Given the description of an element on the screen output the (x, y) to click on. 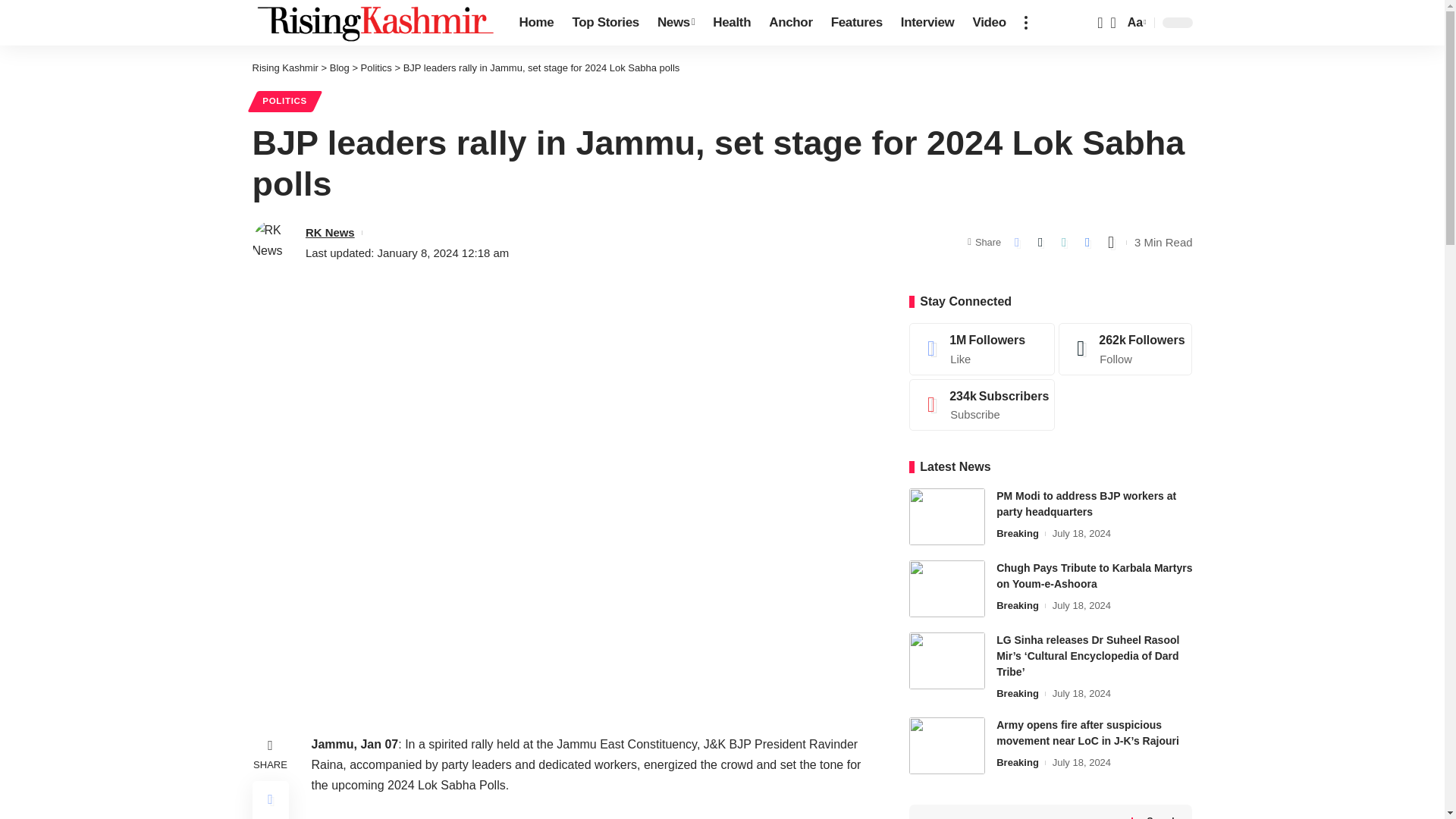
Interview (927, 22)
Features (856, 22)
Video (988, 22)
Go to Blog. (339, 67)
Rising Kashmir (373, 22)
Chugh Pays Tribute to Karbala Martyrs on Youm-e-Ashoora (946, 588)
News (675, 22)
Home (535, 22)
Anchor (790, 22)
Top Stories (604, 22)
PM Modi to address BJP workers at party headquarters (946, 516)
Health (731, 22)
Go to Rising Kashmir. (284, 67)
Go to the Politics Category archives. (376, 67)
